Given the description of an element on the screen output the (x, y) to click on. 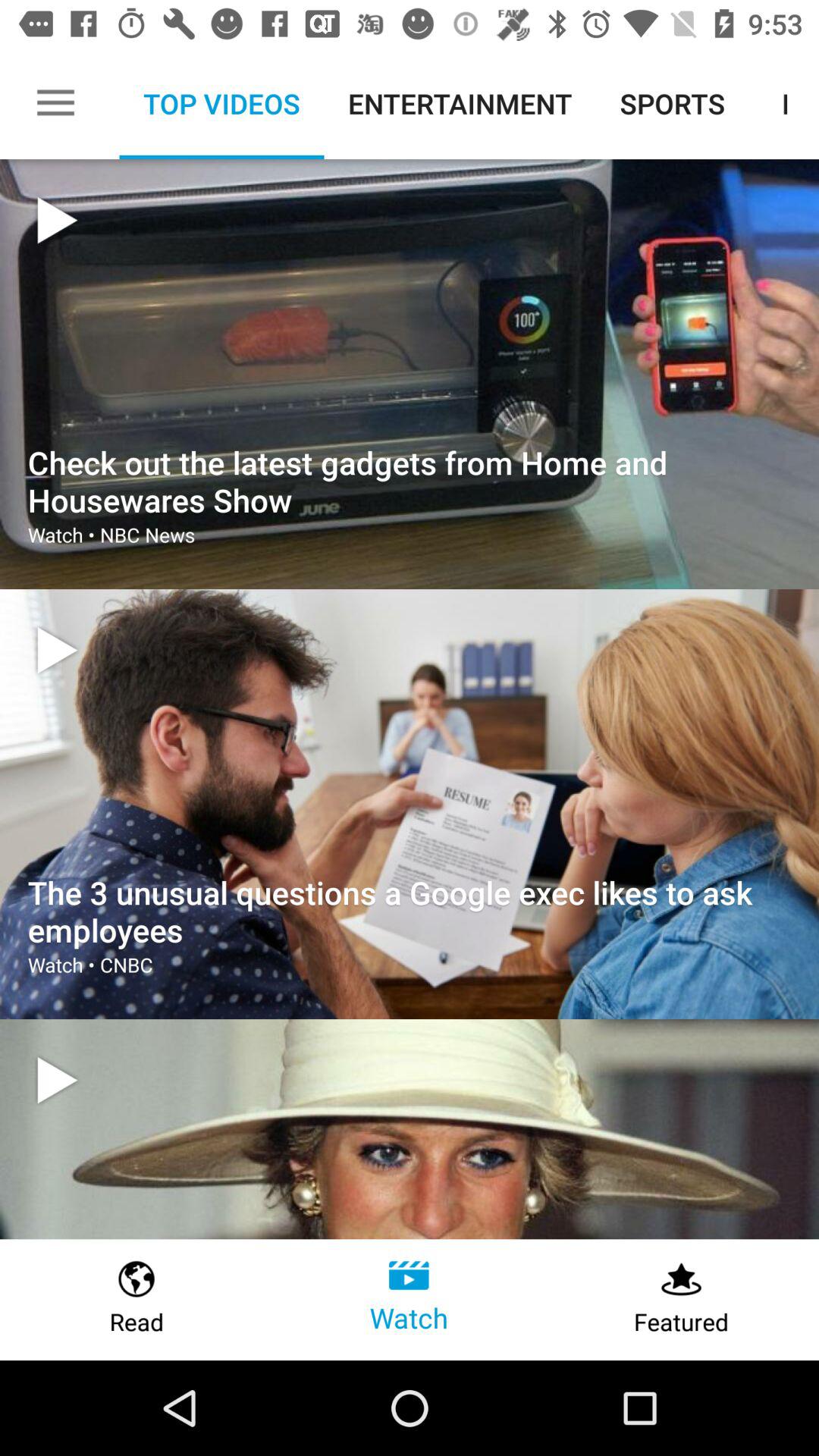
play a video (56, 1079)
